Given the description of an element on the screen output the (x, y) to click on. 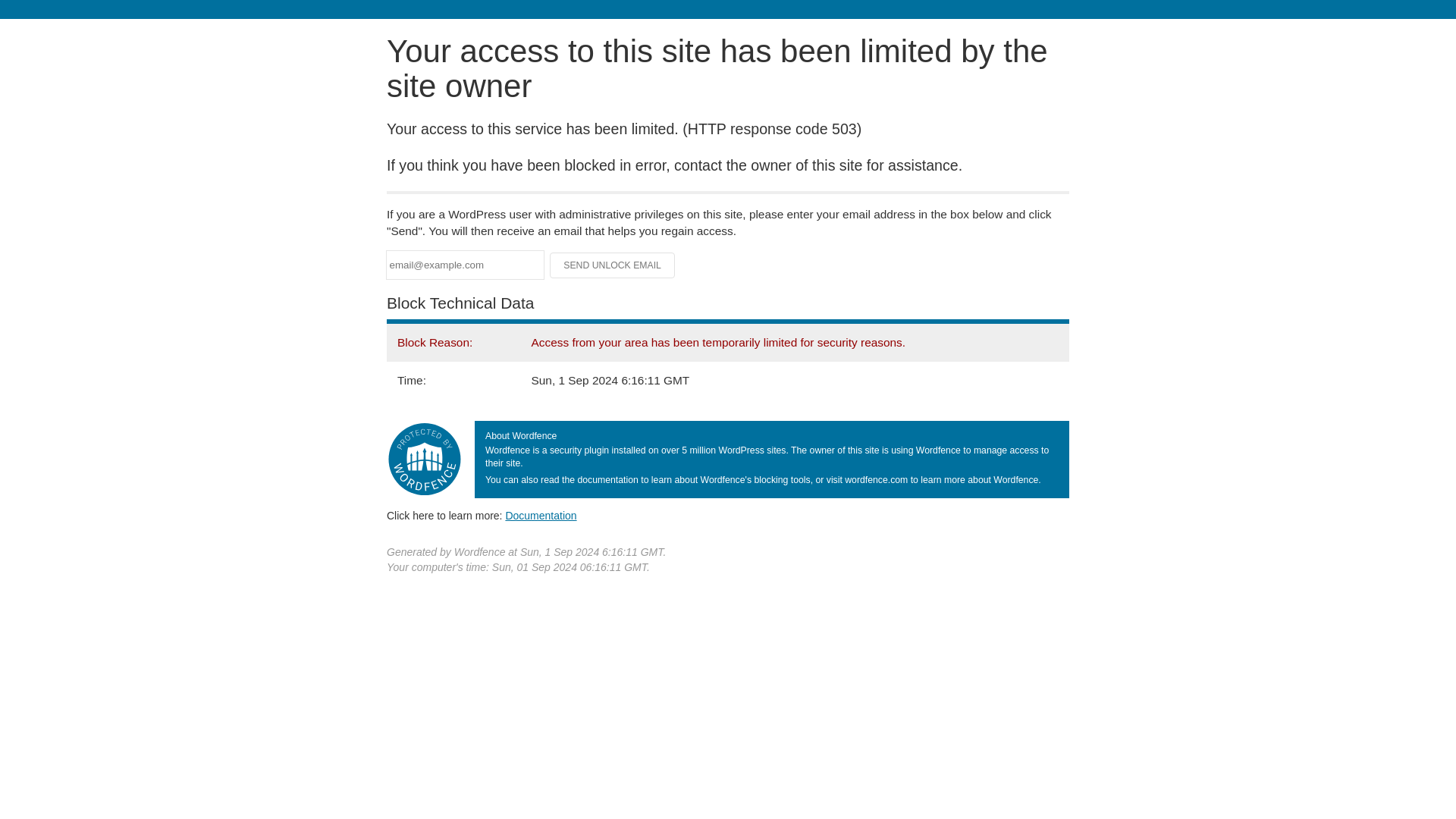
Send Unlock Email (612, 265)
Send Unlock Email (612, 265)
Documentation (540, 515)
